Given the description of an element on the screen output the (x, y) to click on. 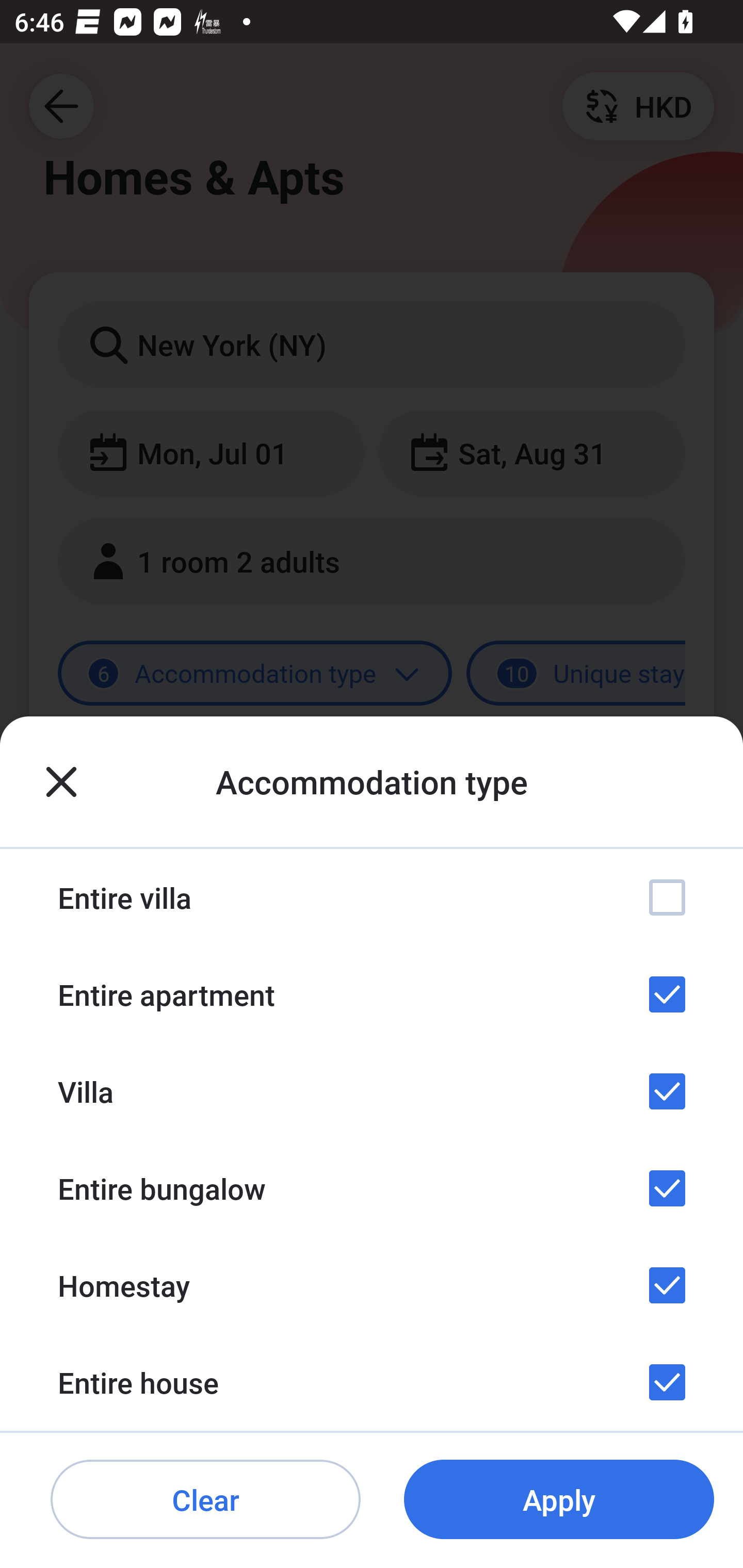
Entire villa (371, 897)
Entire apartment (371, 994)
Villa (371, 1091)
Entire bungalow (371, 1188)
Homestay (371, 1284)
Entire house (371, 1382)
Clear (205, 1499)
Apply (559, 1499)
